Given the description of an element on the screen output the (x, y) to click on. 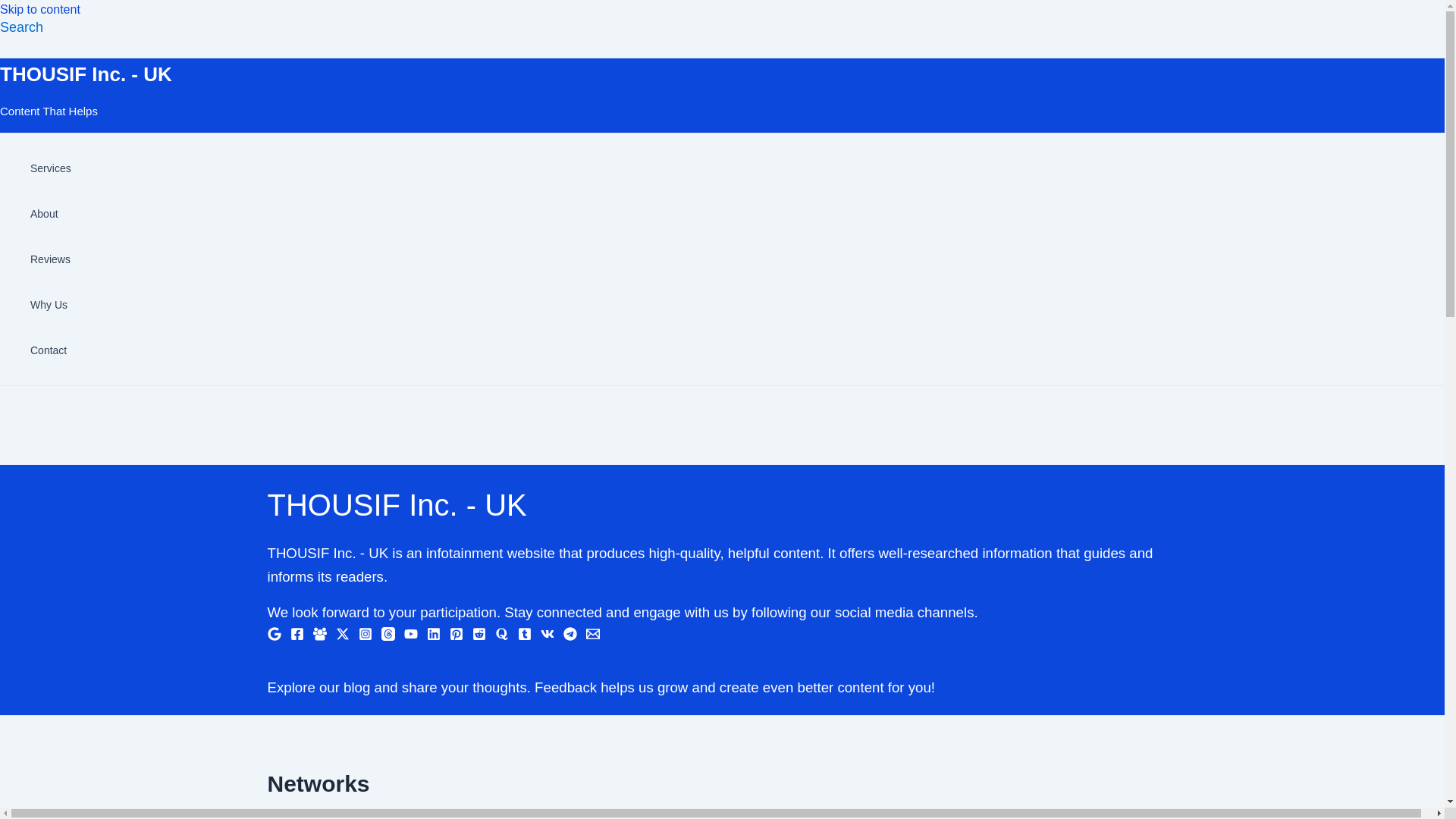
Search (21, 27)
Skip to content (40, 9)
Contact (50, 350)
About (50, 213)
Facebook Group (319, 633)
Why Us (50, 304)
Email (591, 633)
THOUSIF Inc. - UK (85, 74)
Facebook Group (319, 635)
Skip to content (40, 9)
